Given the description of an element on the screen output the (x, y) to click on. 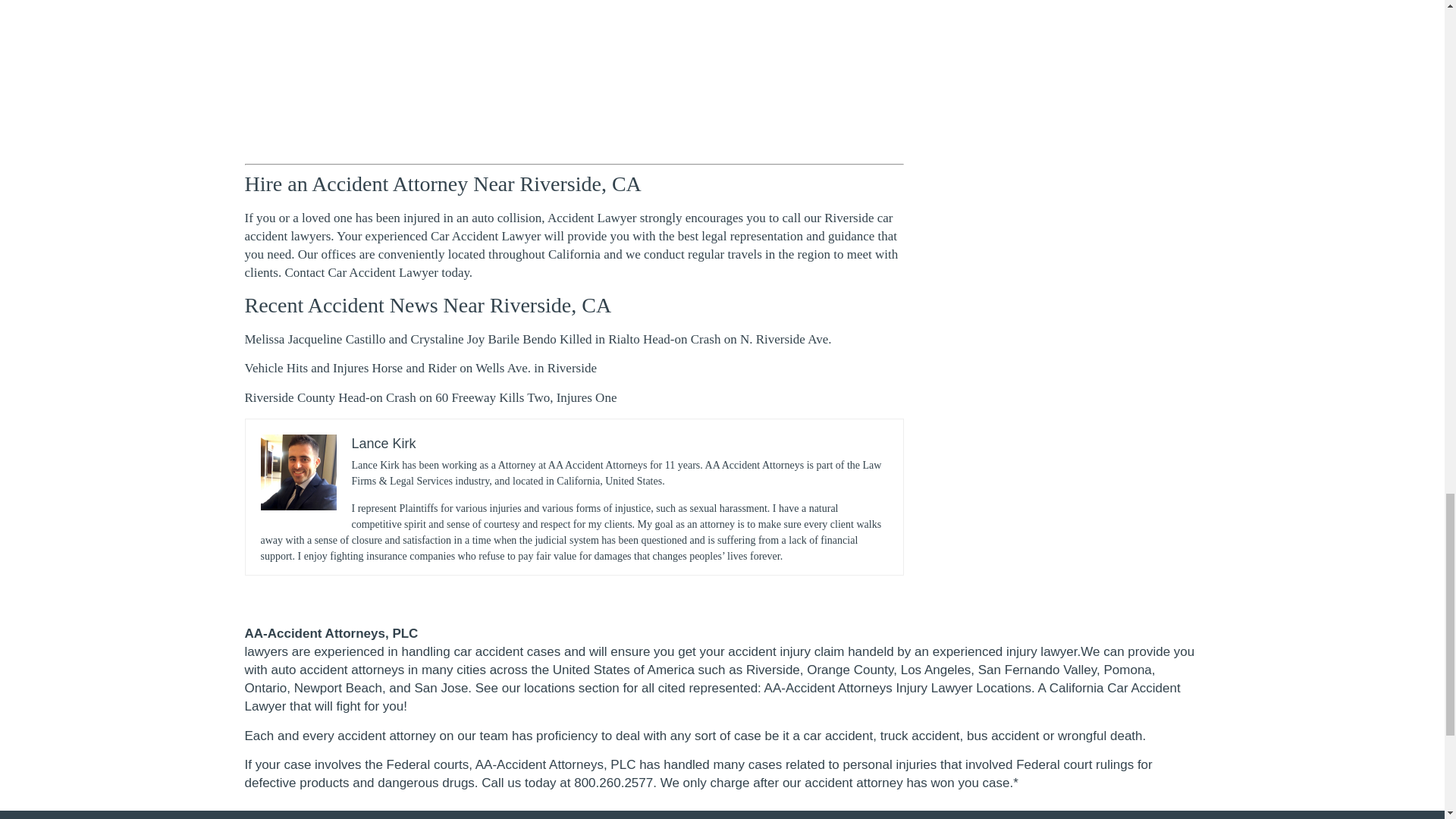
Contact Car Accident Lawyer (360, 272)
Riverside car accident lawyers (568, 226)
Lance Kirk (384, 443)
